Given the description of an element on the screen output the (x, y) to click on. 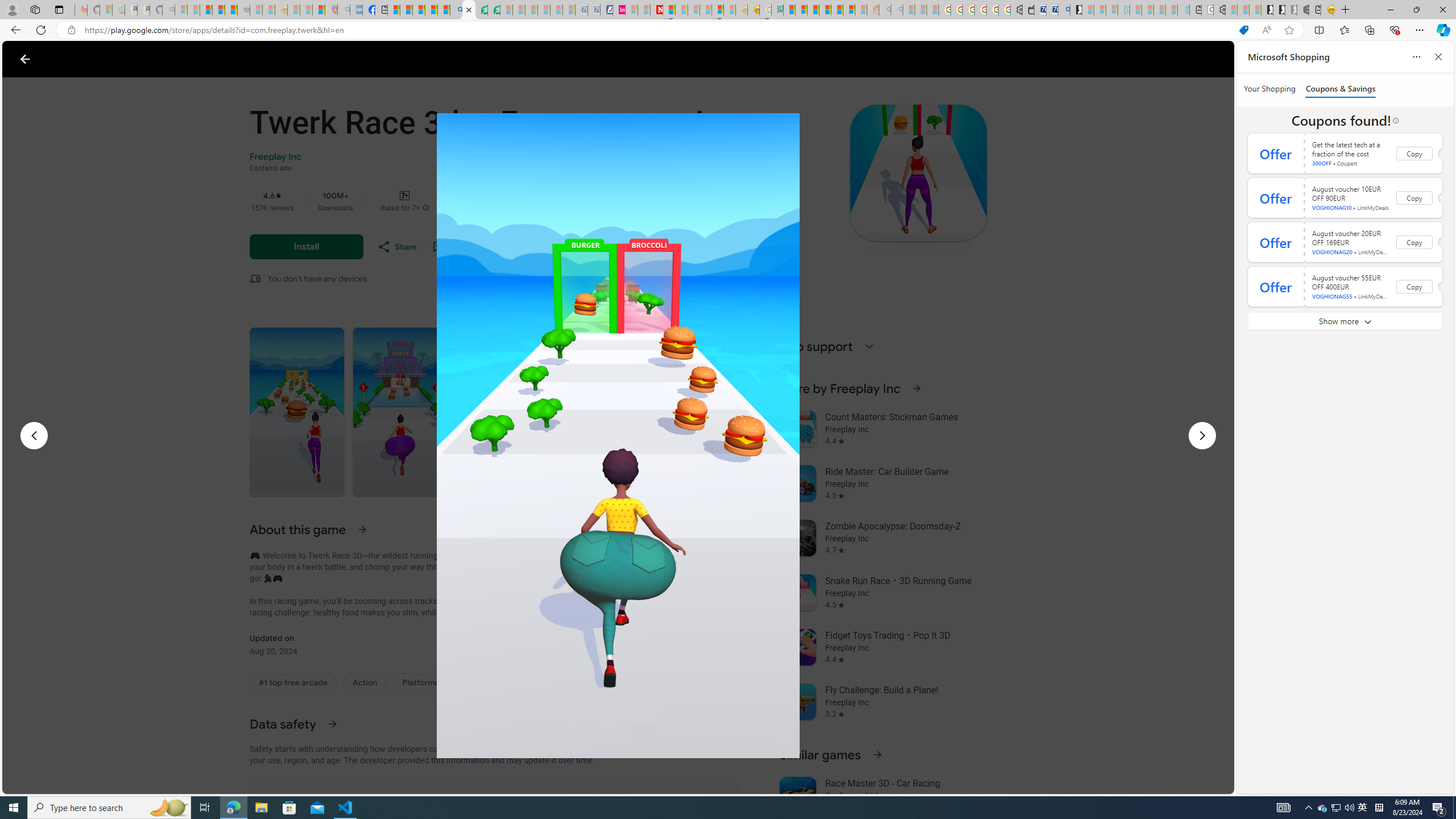
Expert Portfolios (824, 9)
Local - MSN (318, 9)
Action (365, 682)
Kids (220, 58)
